Given the description of an element on the screen output the (x, y) to click on. 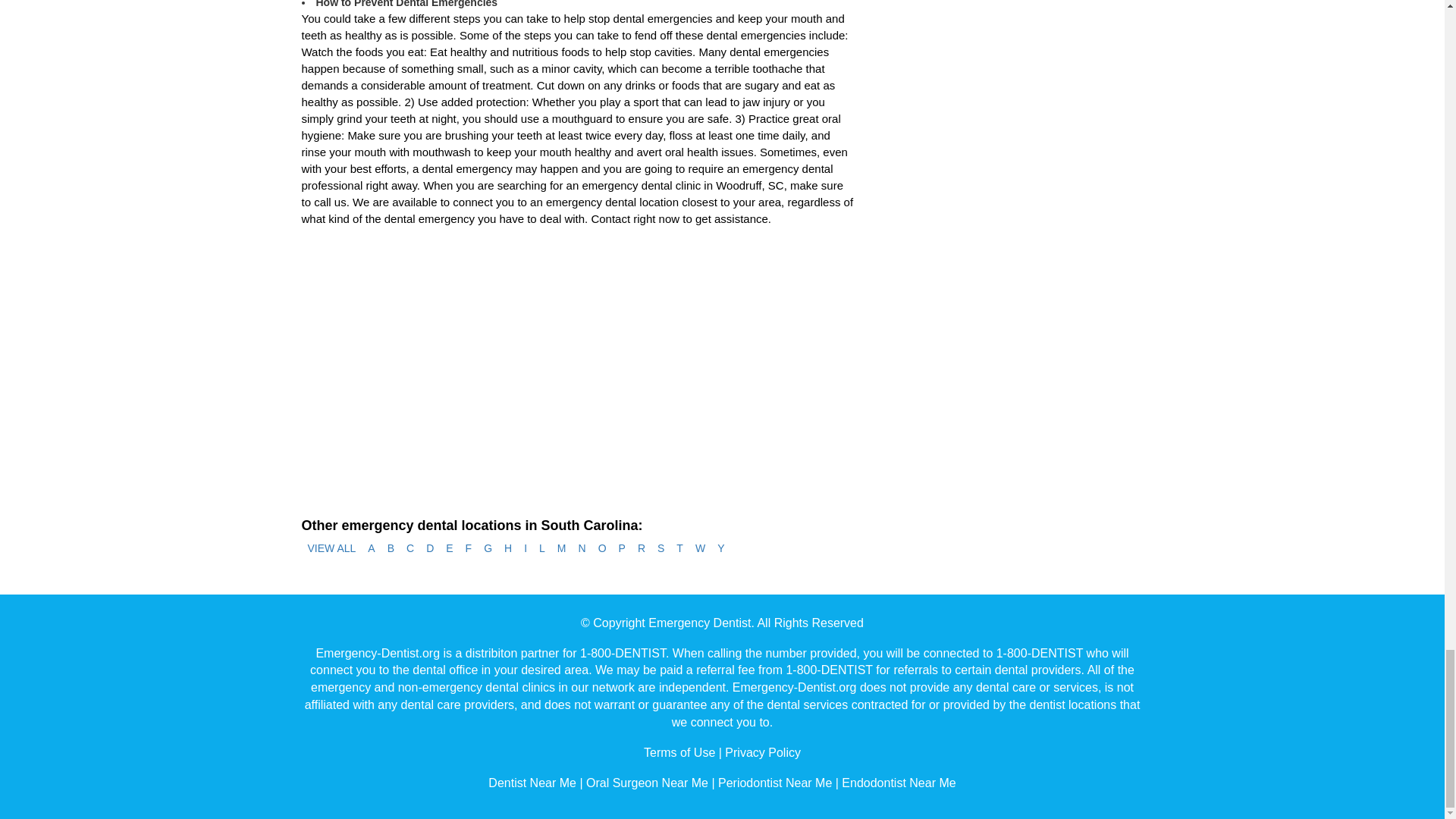
R (640, 548)
W (699, 548)
I (525, 548)
Y (720, 548)
Privacy Policy (762, 752)
O (602, 548)
H (507, 548)
P (621, 548)
Periodontist Near Me (774, 782)
S (659, 548)
L (541, 548)
E (448, 548)
M (561, 548)
N (582, 548)
F (469, 548)
